Given the description of an element on the screen output the (x, y) to click on. 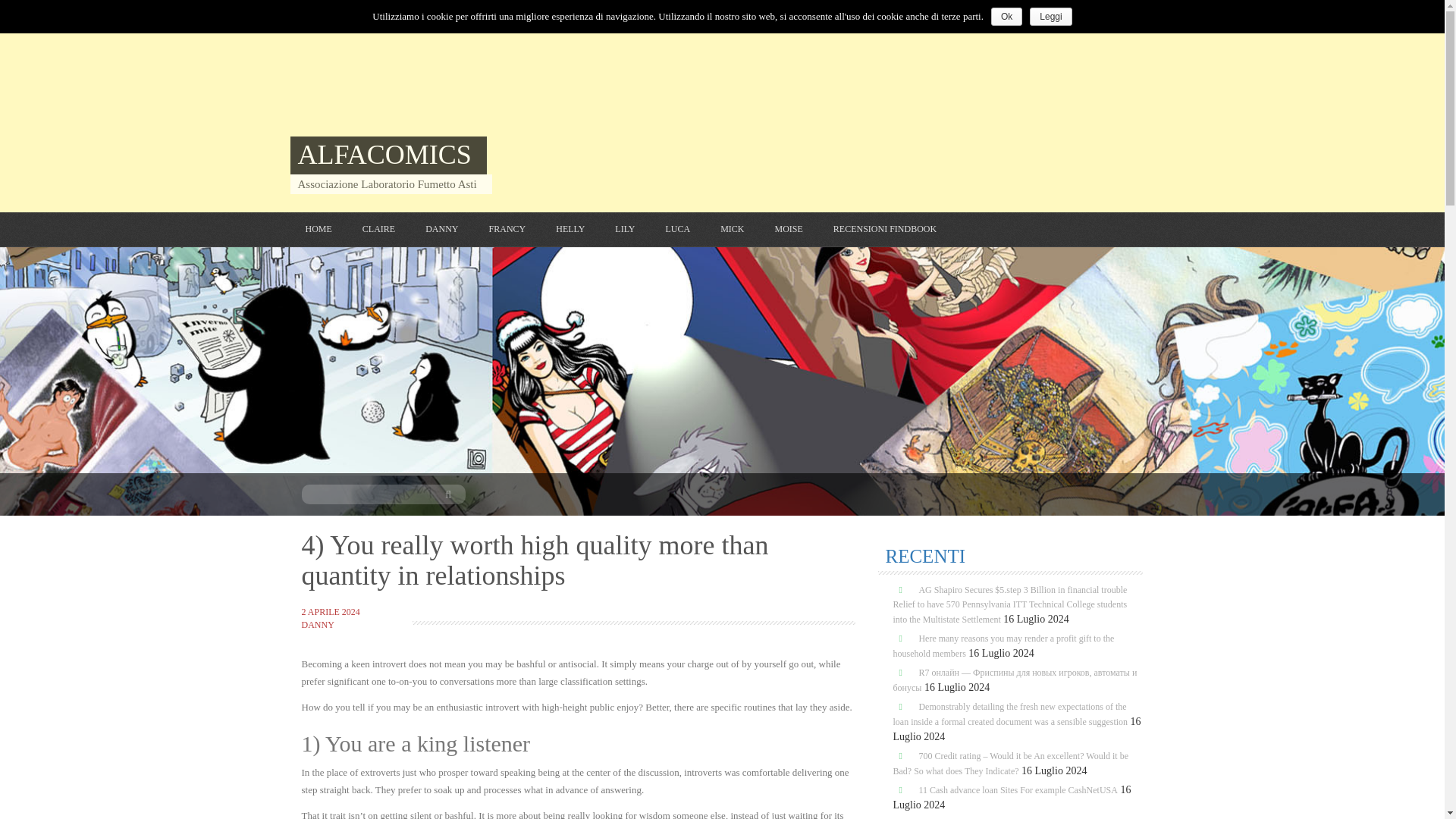
ALFACOMICS (383, 154)
2 APRILE 2024 (330, 611)
CLAIRE (378, 228)
LILY (624, 228)
HELLY (570, 228)
DANNY (317, 624)
11 Cash advance loan Sites For example CashNetUSA (1018, 789)
LUCA (677, 228)
RECENSIONI FINDBOOK (884, 228)
MICK (732, 228)
HOME (317, 228)
MOISE (788, 228)
DANNY (441, 228)
